Given the description of an element on the screen output the (x, y) to click on. 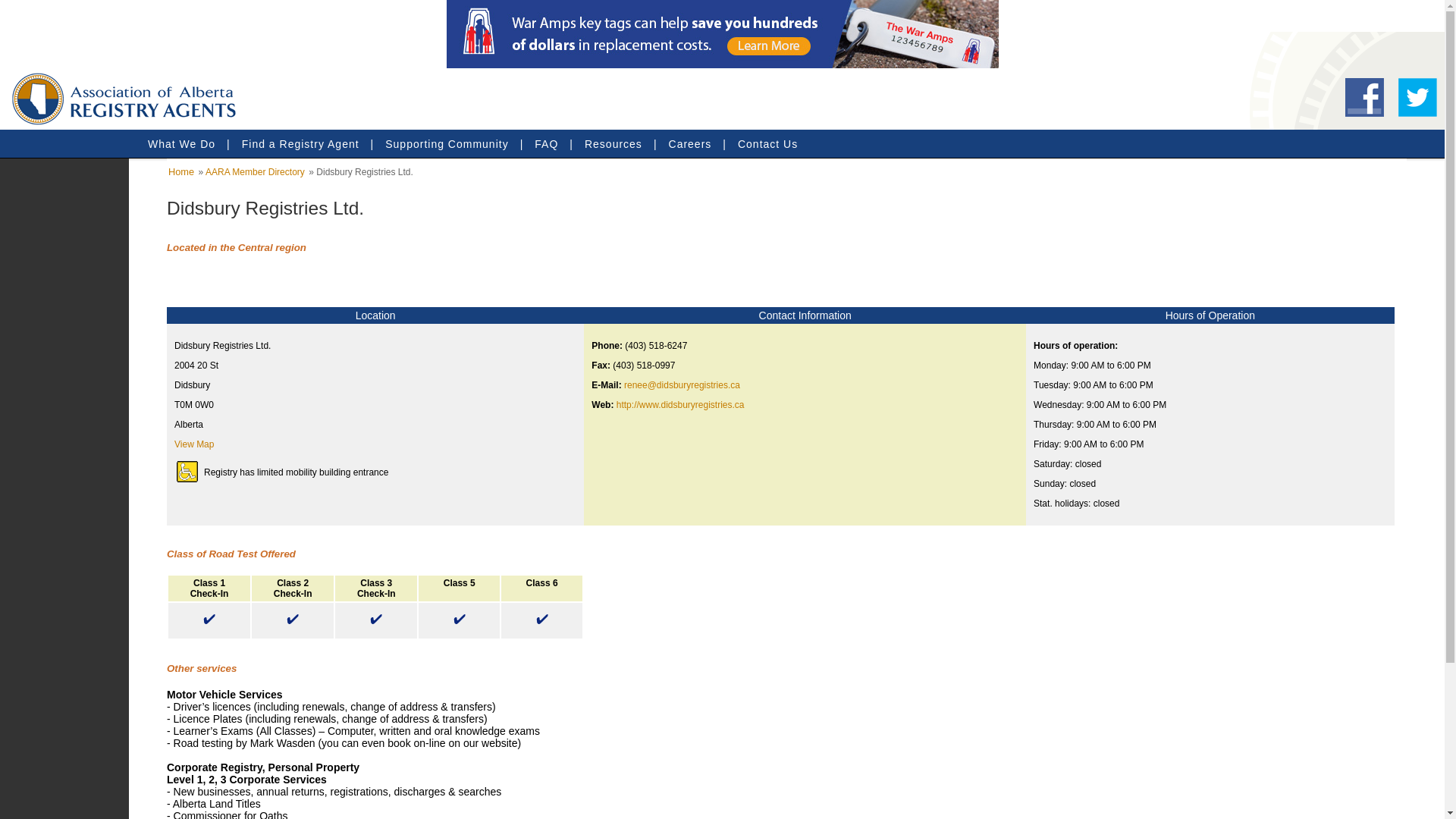
Contact Us Element type: text (767, 143)
Supporting Community Element type: text (446, 143)
Careers Element type: text (690, 143)
FAQ Element type: text (546, 143)
renee@didsburyregistries.ca Element type: text (682, 384)
View Map Element type: text (193, 444)
AARA Member Directory Element type: text (254, 171)
Find a Registry Agent Element type: text (300, 143)
http://www.didsburyregistries.ca Element type: text (680, 404)
Home Element type: text (181, 171)
Resources Element type: text (613, 143)
What We Do Element type: text (181, 143)
